Given the description of an element on the screen output the (x, y) to click on. 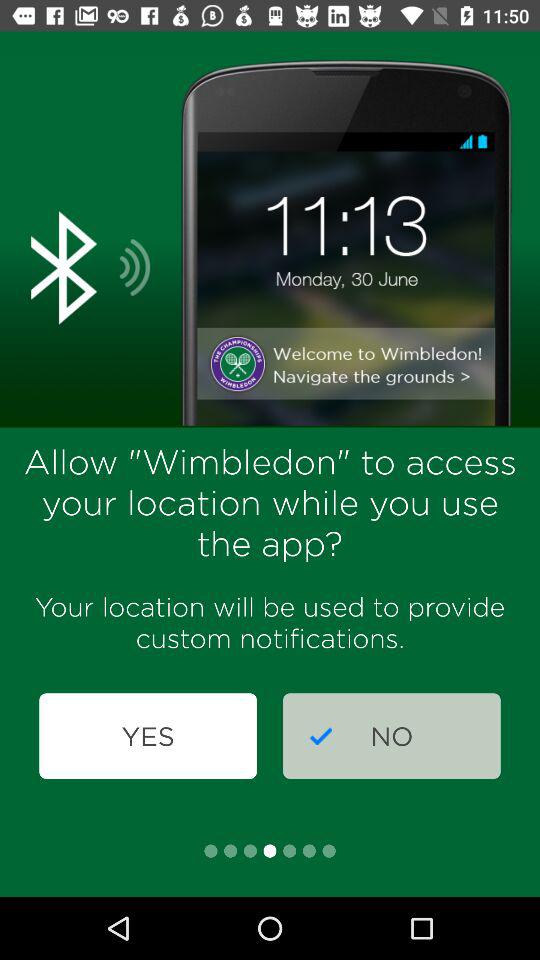
click icon to the left of no (147, 735)
